Given the description of an element on the screen output the (x, y) to click on. 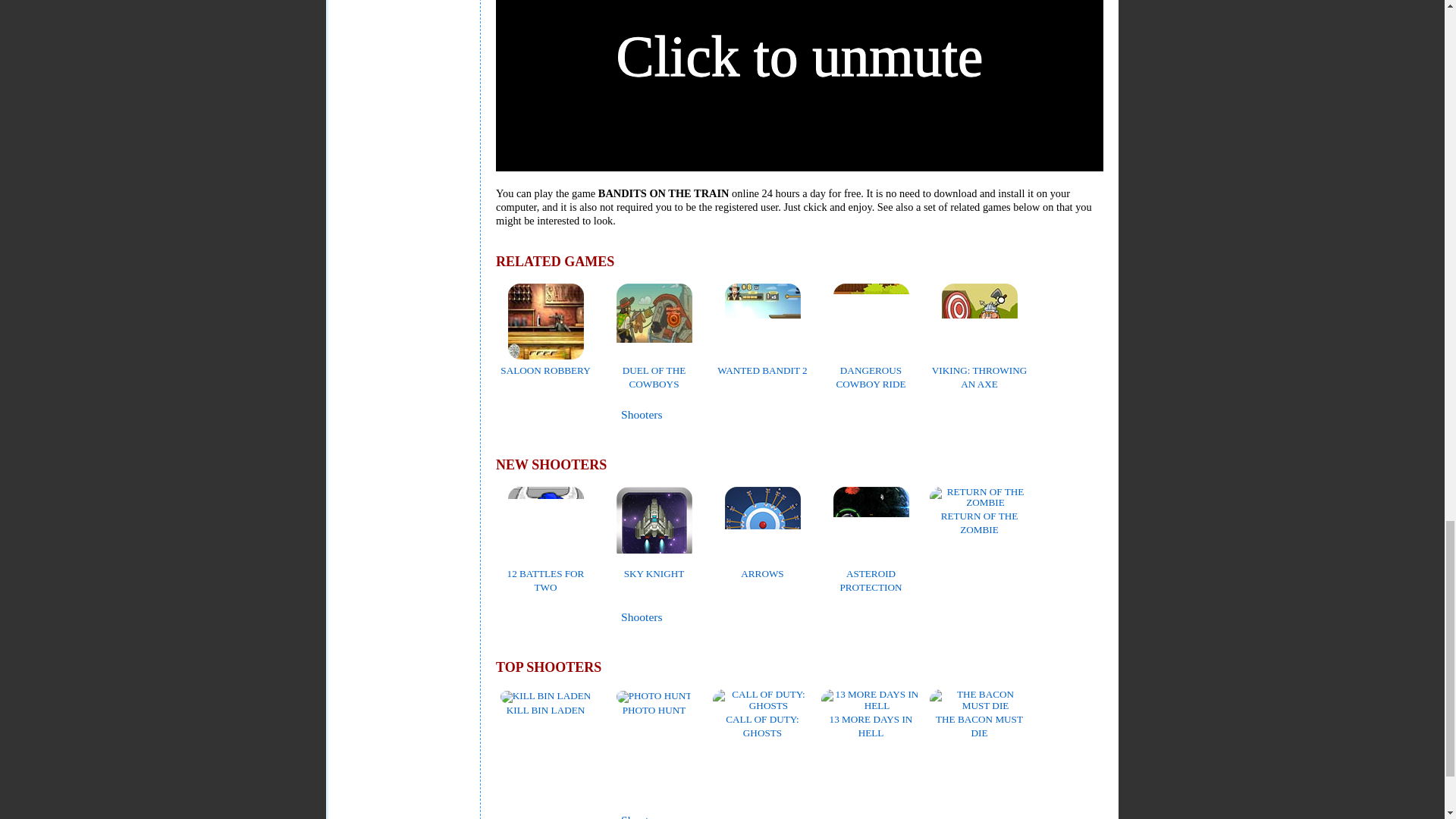
DANGEROUS COWBOY RIDE (870, 370)
DUEL OF THE COWBOYS (653, 370)
TOP games (538, 816)
All new games (539, 616)
SALOON ROBBERY (544, 363)
KILL BIN LADEN (545, 702)
VIKING: THROWING AN AXE (978, 370)
12 BATTLES FOR TWO (545, 573)
New Shooters (641, 616)
WANTED BANDIT 2 (761, 363)
